Given the description of an element on the screen output the (x, y) to click on. 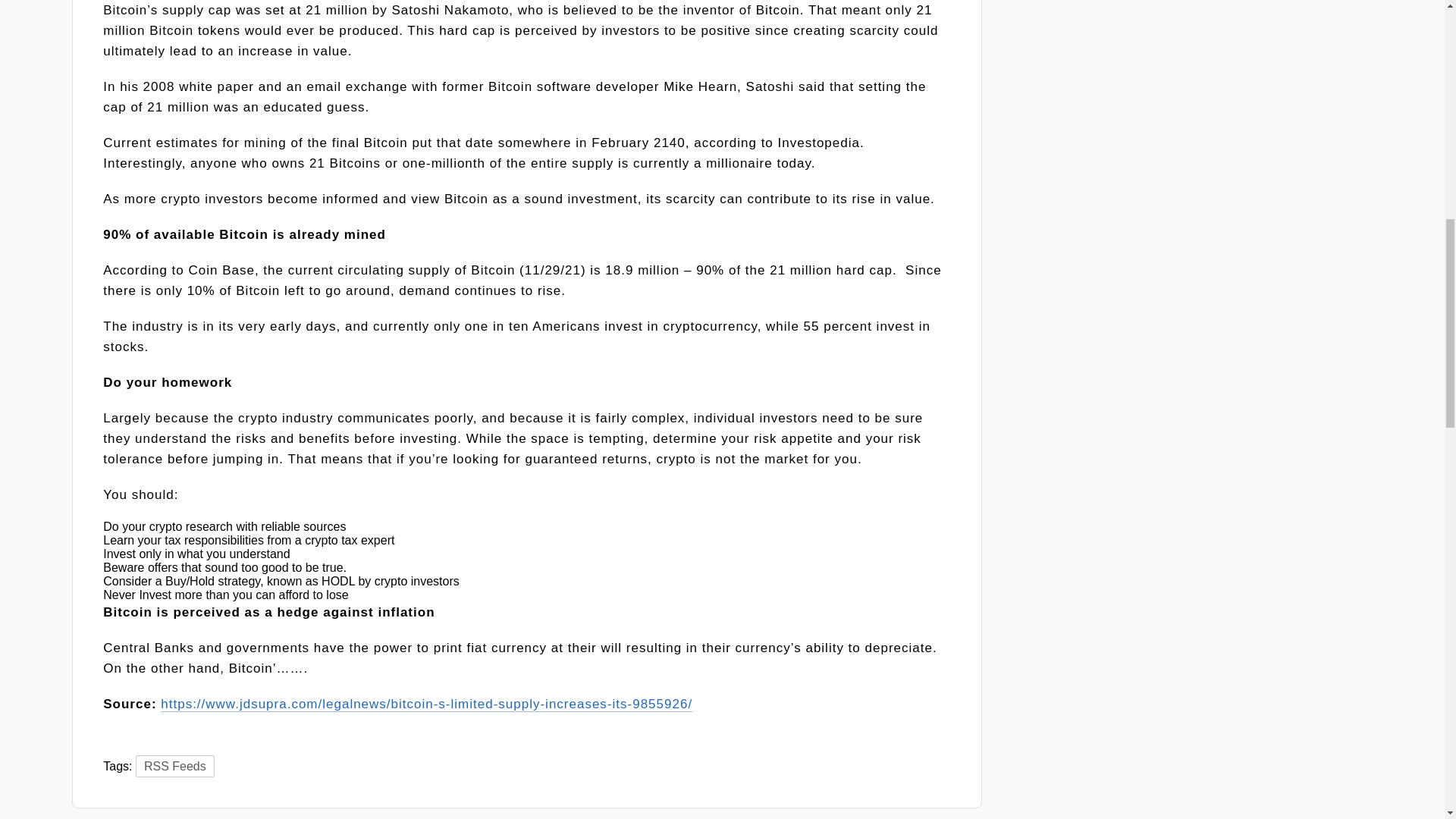
RSS Feeds (174, 766)
